Given the description of an element on the screen output the (x, y) to click on. 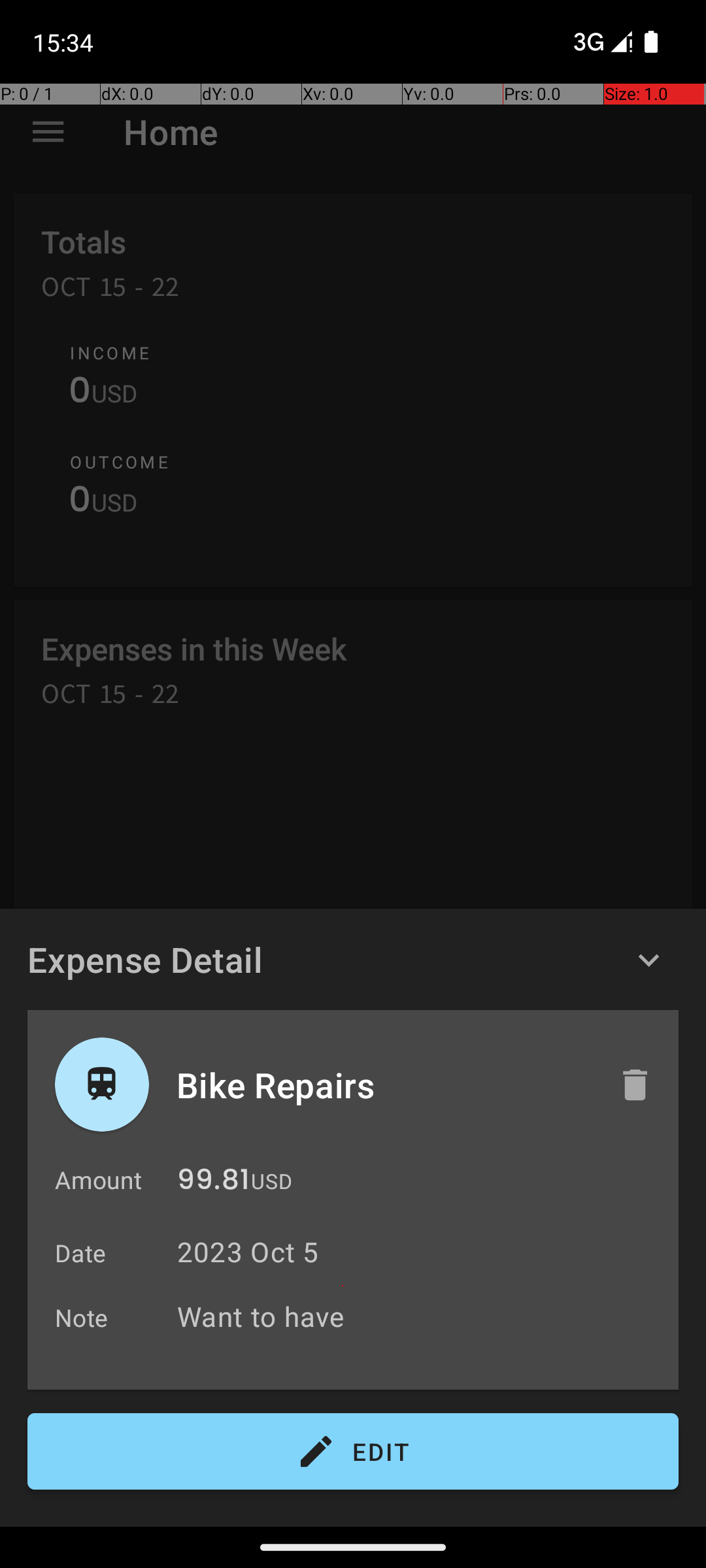
Bike Repairs Element type: android.widget.TextView (383, 1084)
99.81 Element type: android.widget.TextView (213, 1182)
2023 Oct 5 Element type: android.widget.TextView (247, 1251)
Want to have Element type: android.widget.TextView (420, 1315)
